Given the description of an element on the screen output the (x, y) to click on. 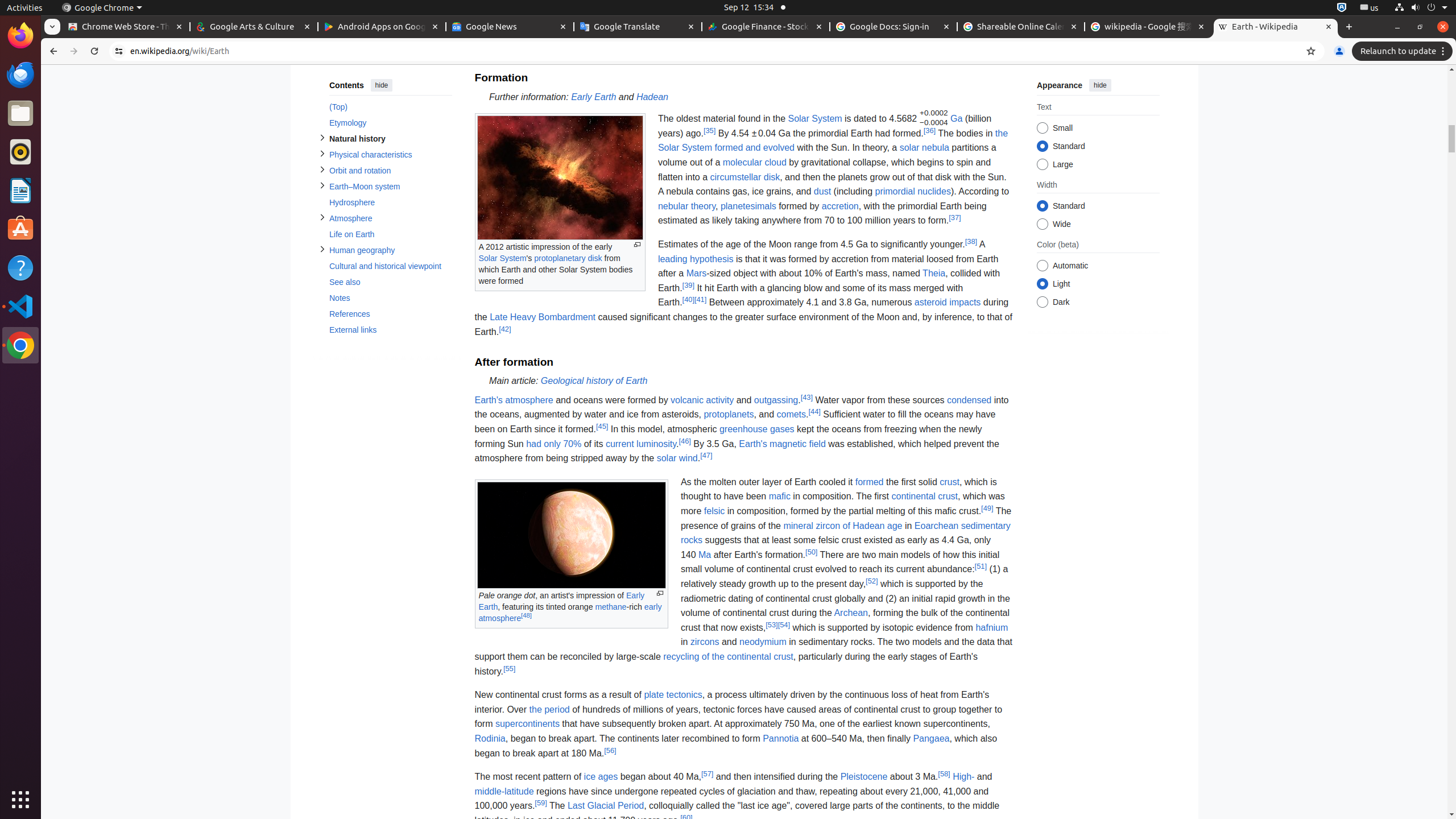
Physical characteristics Element type: link (390, 154)
[53] Element type: link (771, 624)
Firefox Web Browser Element type: push-button (20, 35)
:1.72/StatusNotifierItem Element type: menu (1341, 7)
Thunderbird Mail Element type: push-button (20, 74)
